Given the description of an element on the screen output the (x, y) to click on. 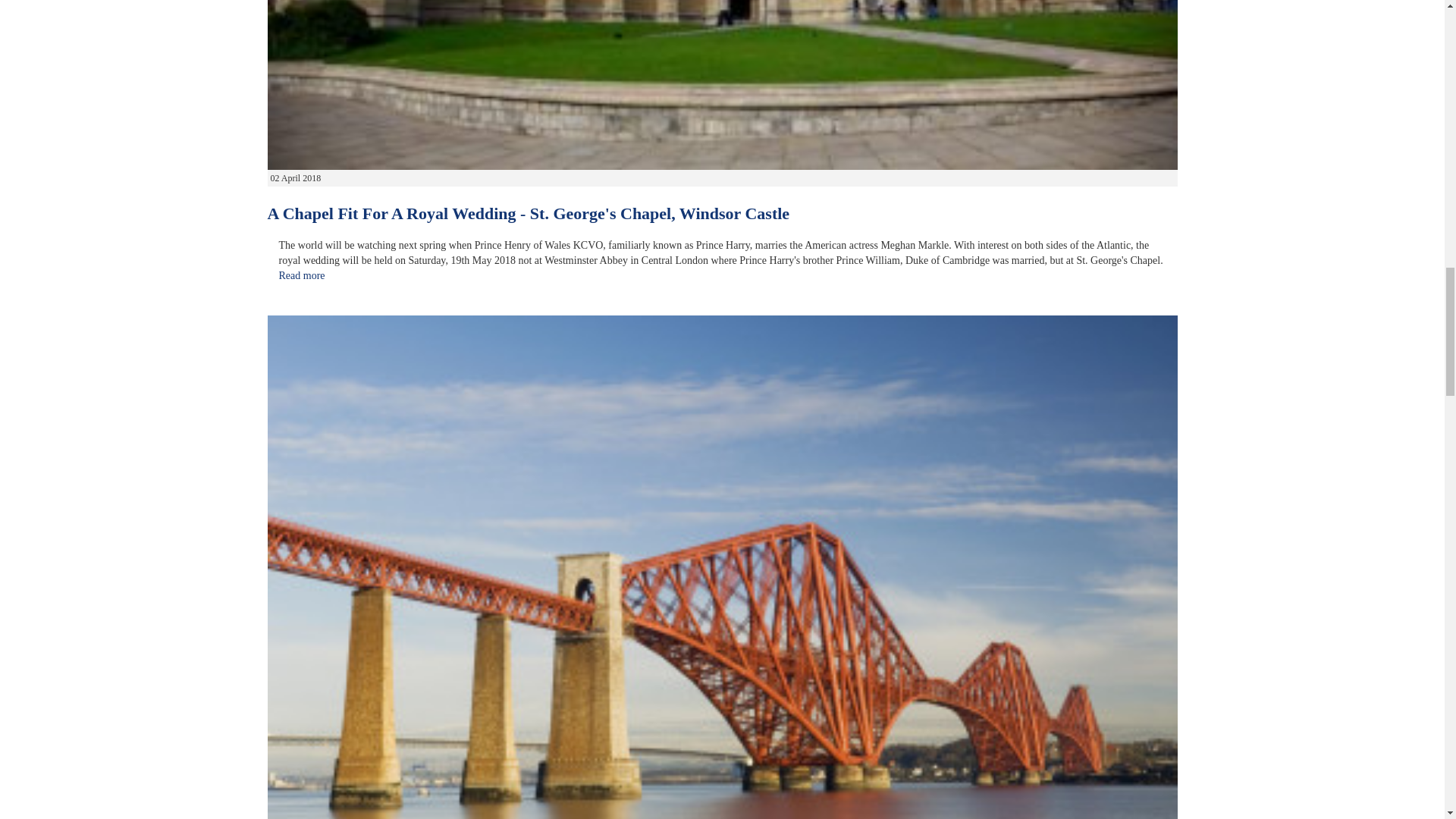
Read more (301, 275)
